Given the description of an element on the screen output the (x, y) to click on. 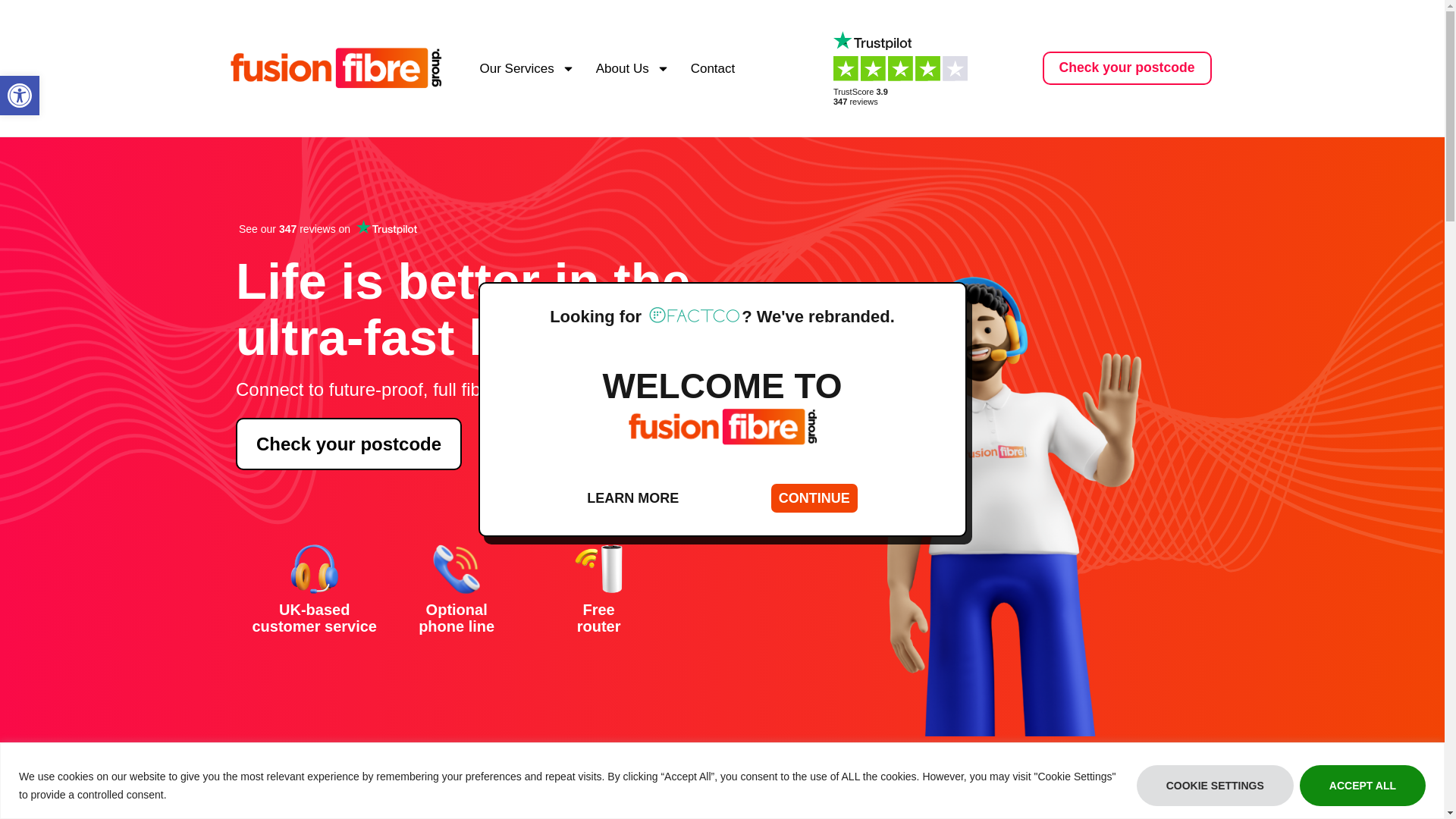
Accessibility Tools (19, 95)
Customer reviews powered by Trustpilot (19, 95)
ACCEPT ALL (527, 229)
Our Services (1362, 784)
Accessibility Tools (526, 68)
About Us (19, 95)
Customer reviews powered by Trustpilot (632, 68)
COOKIE SETTINGS (904, 68)
Contact (1215, 784)
